Given the description of an element on the screen output the (x, y) to click on. 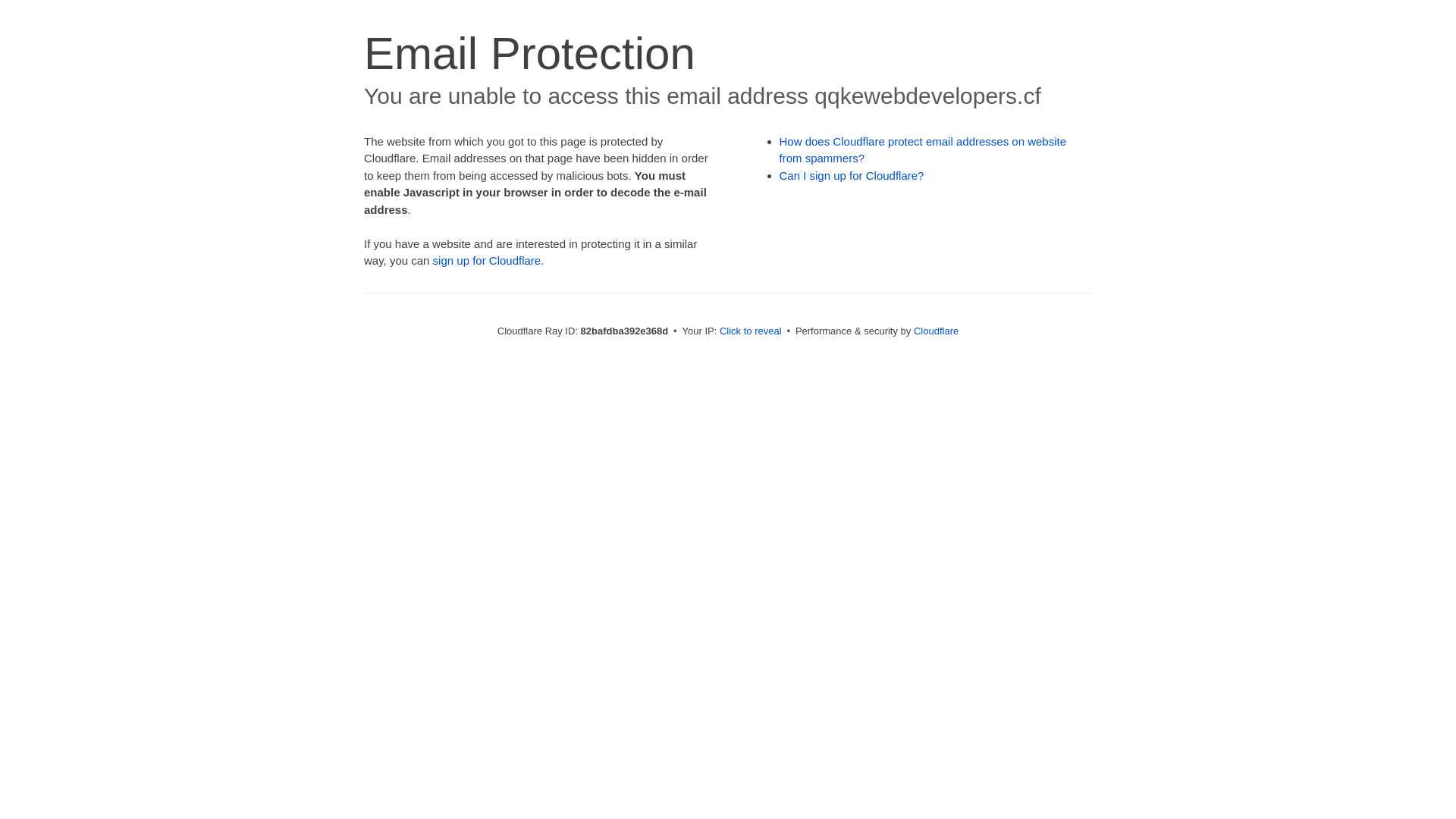
Can I sign up for Cloudflare? Element type: text (851, 175)
sign up for Cloudflare Element type: text (487, 260)
Click to reveal Element type: text (750, 330)
Cloudflare Element type: text (935, 330)
